Given the description of an element on the screen output the (x, y) to click on. 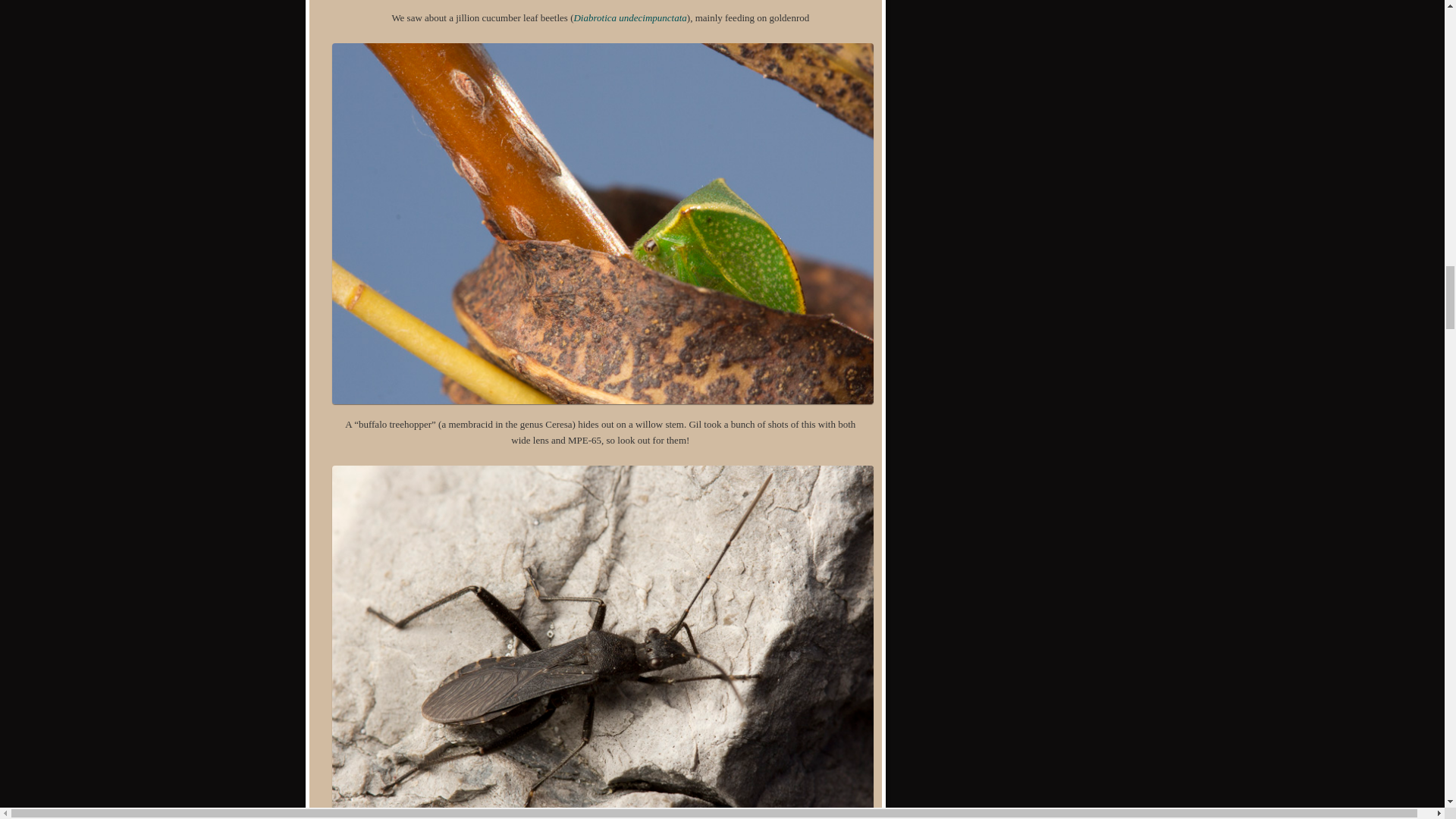
Diabrotica undecimpunctata (629, 17)
